Given the description of an element on the screen output the (x, y) to click on. 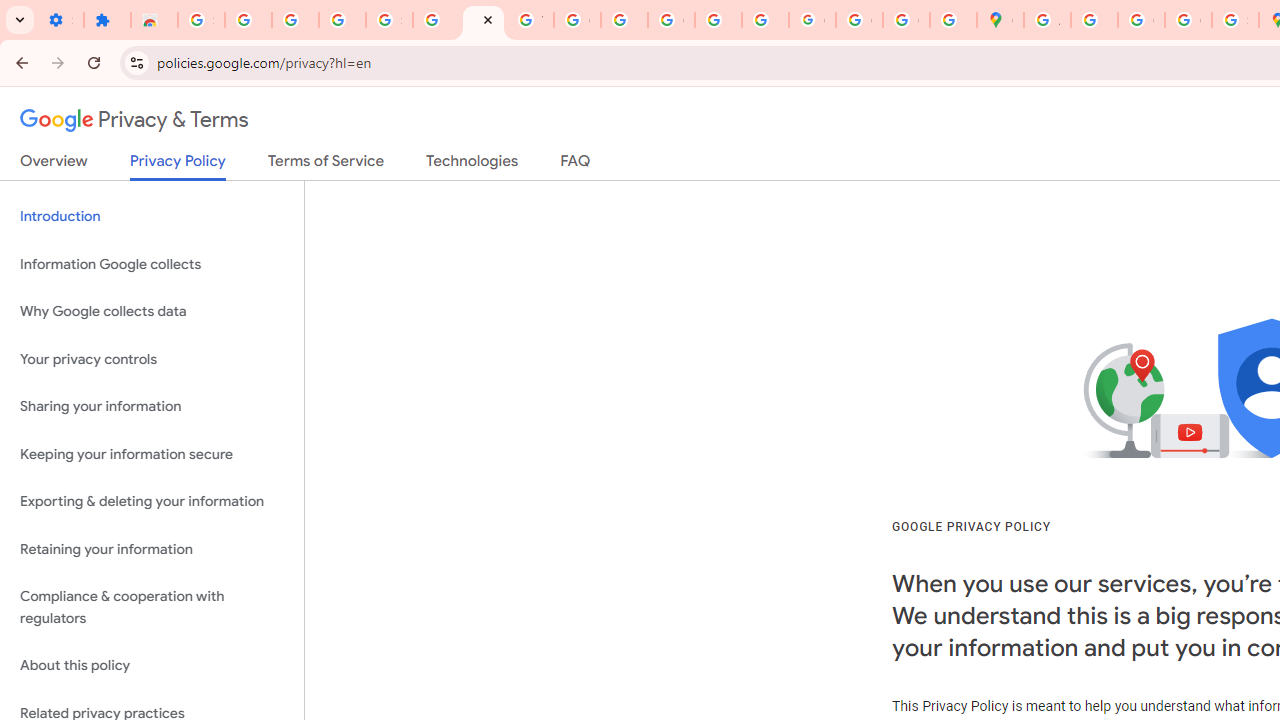
YouTube (530, 20)
Create your Google Account (1140, 20)
About this policy (152, 666)
Introduction (152, 216)
Compliance & cooperation with regulators (152, 607)
Information Google collects (152, 263)
Sharing your information (152, 407)
Safety in Our Products - Google Safety Center (1235, 20)
